Given the description of an element on the screen output the (x, y) to click on. 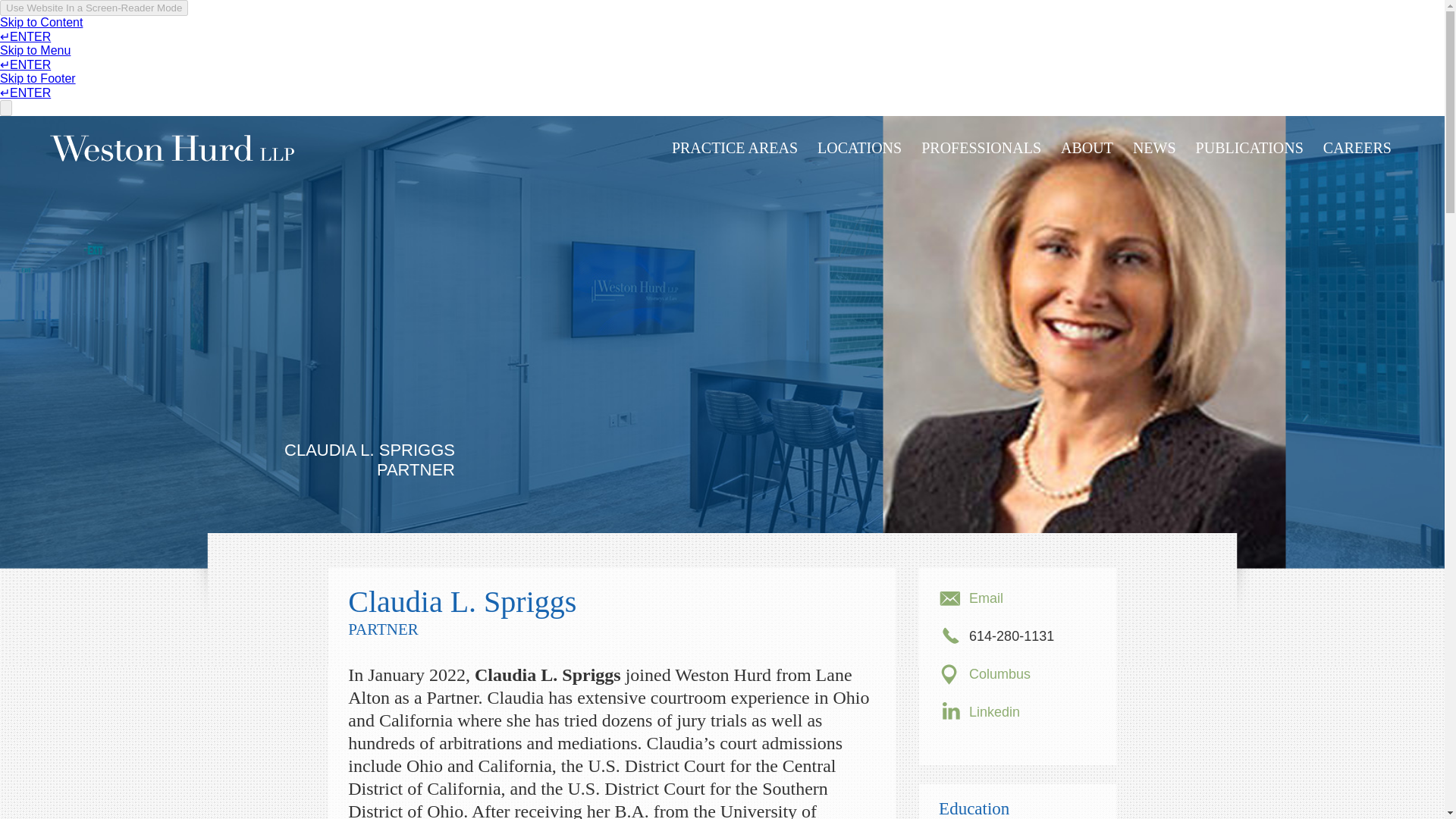
CAREERS (1357, 158)
PRACTICE AREAS (734, 158)
PUBLICATIONS (1249, 158)
LOCATIONS (858, 158)
NEWS (1154, 158)
Columbus (999, 673)
ABOUT (1087, 158)
Linkedin (994, 711)
PROFESSIONALS (981, 158)
Email (986, 598)
